Given the description of an element on the screen output the (x, y) to click on. 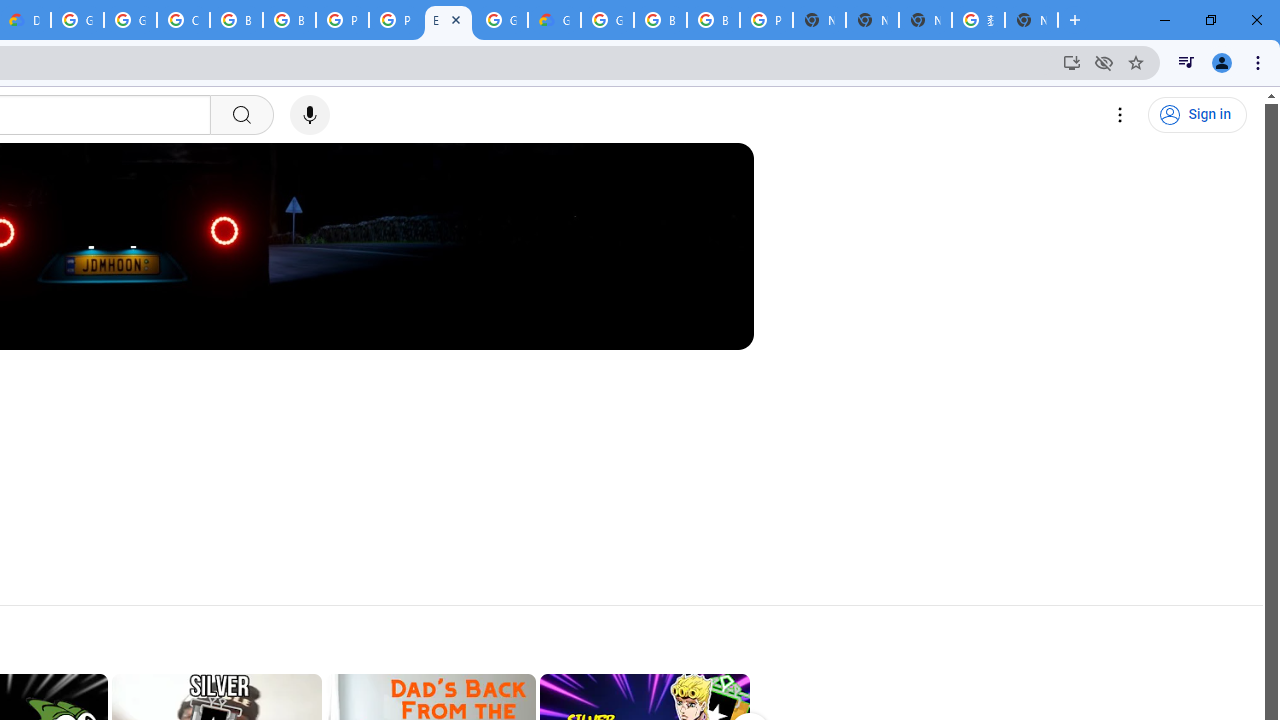
Google Cloud Platform (607, 20)
New Tab (1031, 20)
Install YouTube (1071, 62)
Browse Chrome as a guest - Computer - Google Chrome Help (660, 20)
New Tab (819, 20)
